Given the description of an element on the screen output the (x, y) to click on. 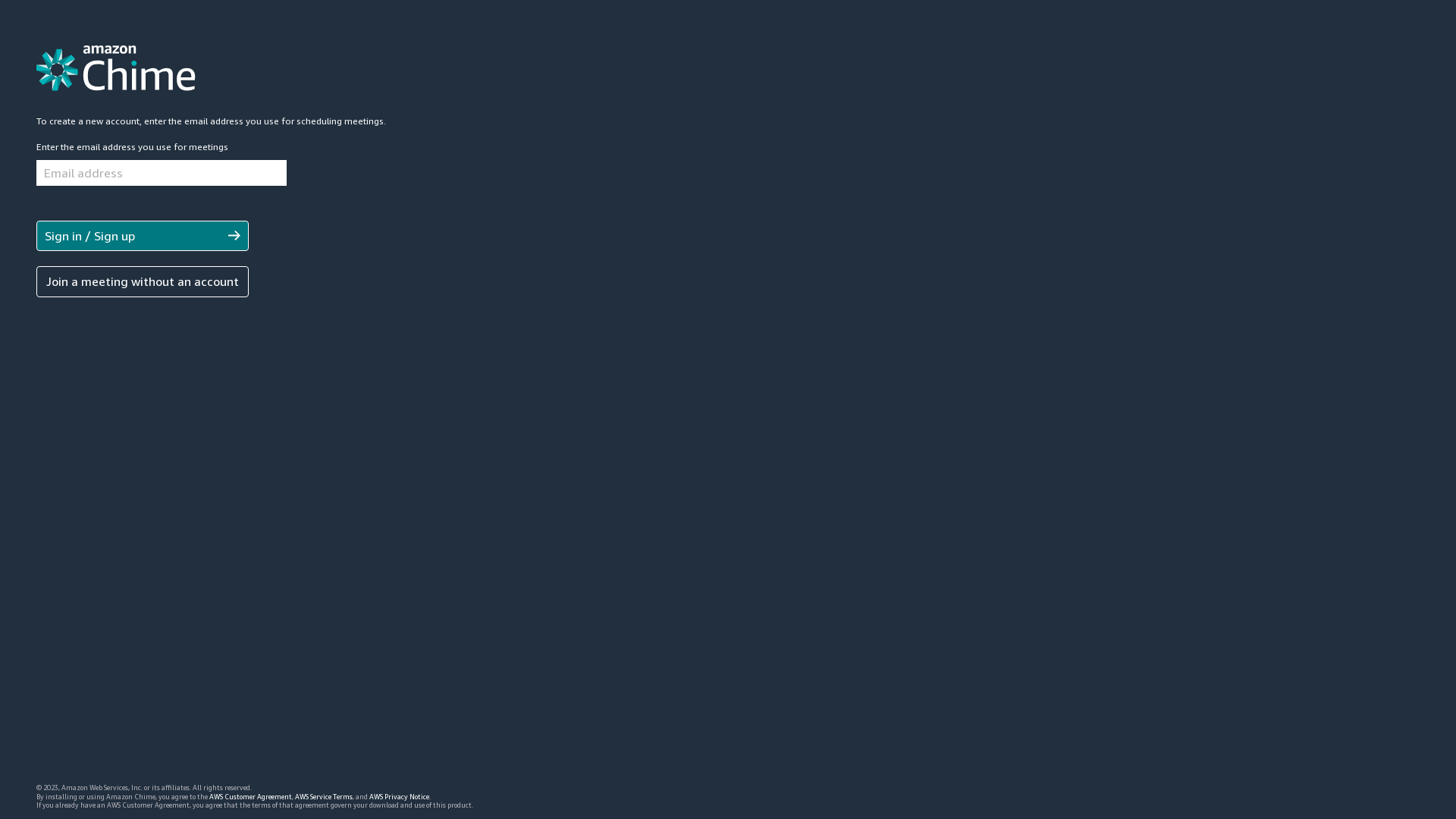
Join a meeting without an account Element type: text (142, 281)
Sign in / Sign up Element type: text (89, 235)
AWS Customer Agreement Element type: text (250, 796)
AWS Service Terms Element type: text (323, 796)
AWS Privacy Notice Element type: text (399, 796)
